Given the description of an element on the screen output the (x, y) to click on. 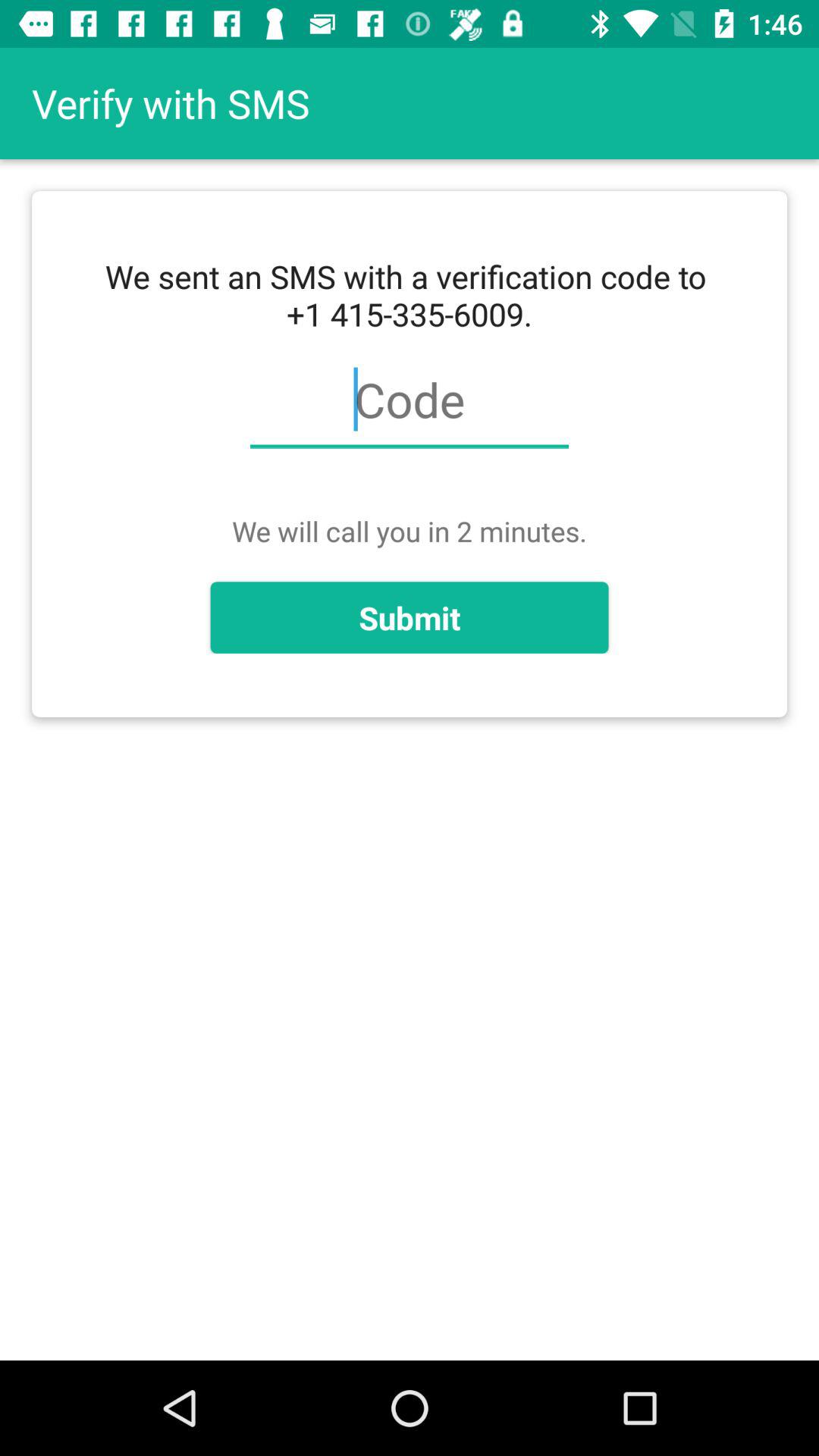
press the submit (409, 617)
